Given the description of an element on the screen output the (x, y) to click on. 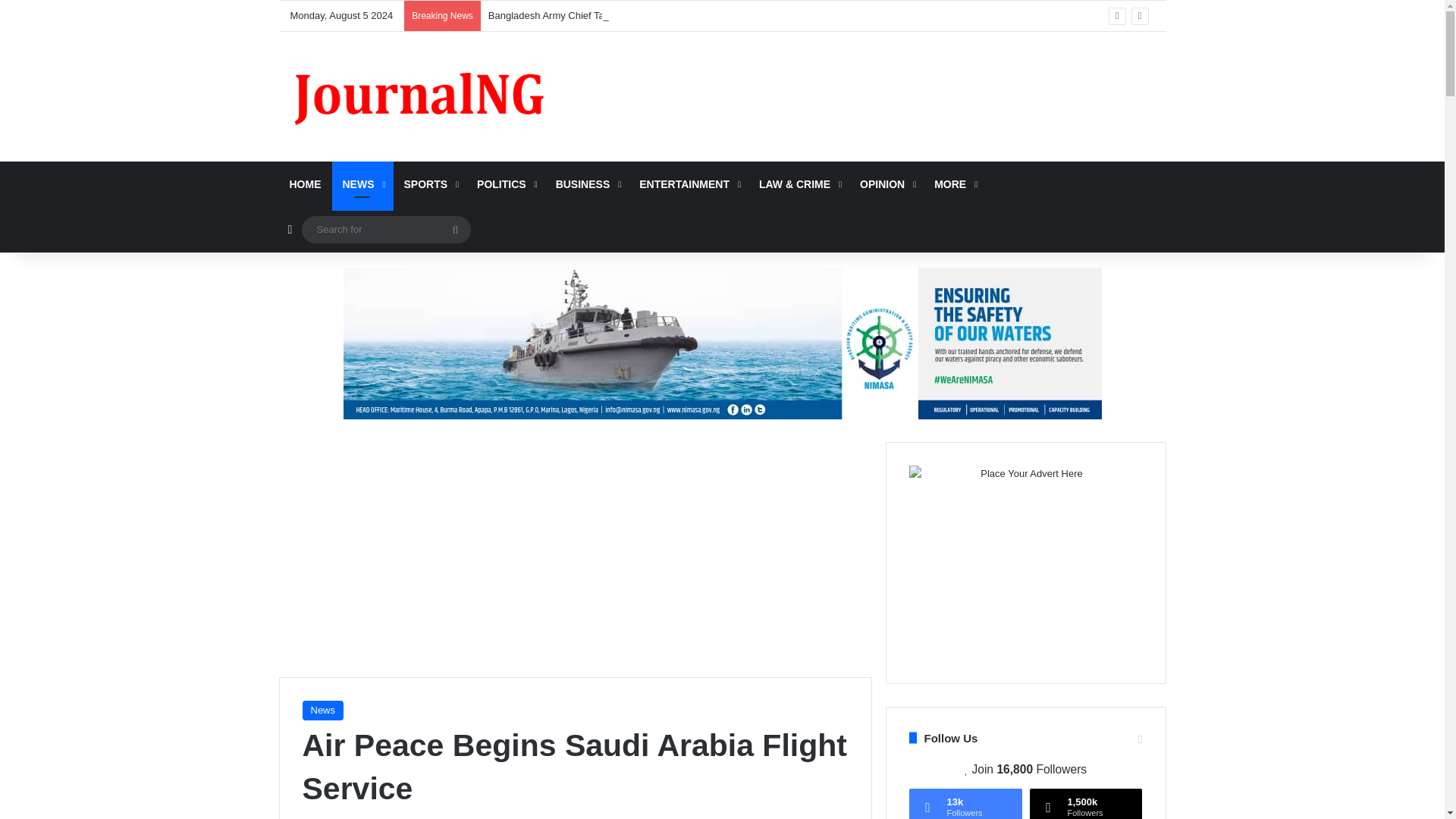
NEWS (362, 184)
MORE (954, 184)
POLITICS (504, 184)
ENTERTAINMENT (688, 184)
Search for (454, 229)
SPORTS (429, 184)
Advertisement (575, 548)
BUSINESS (586, 184)
Advertisement (873, 80)
HOME (305, 184)
Search for (385, 229)
News (322, 710)
OPINION (885, 184)
Journal NG (419, 96)
